Given the description of an element on the screen output the (x, y) to click on. 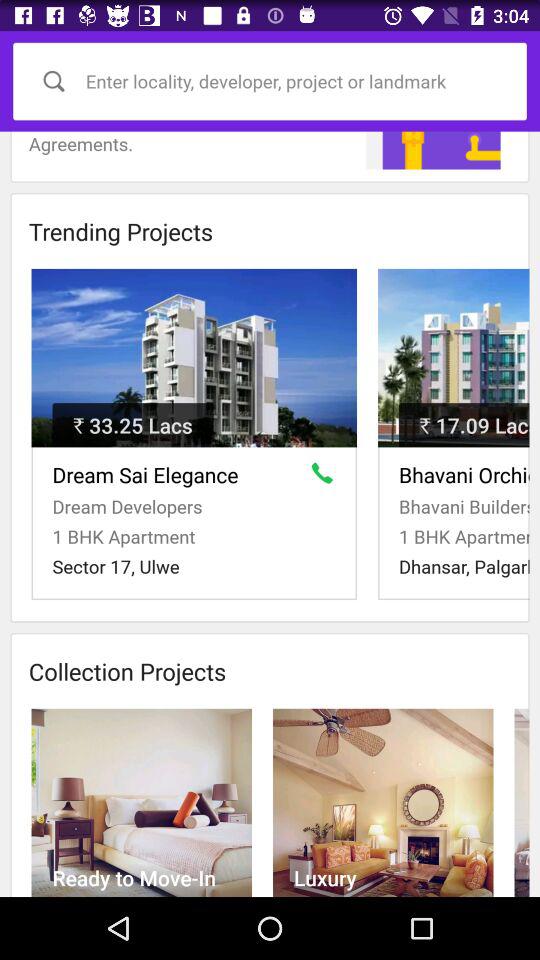
call this business (326, 477)
